Given the description of an element on the screen output the (x, y) to click on. 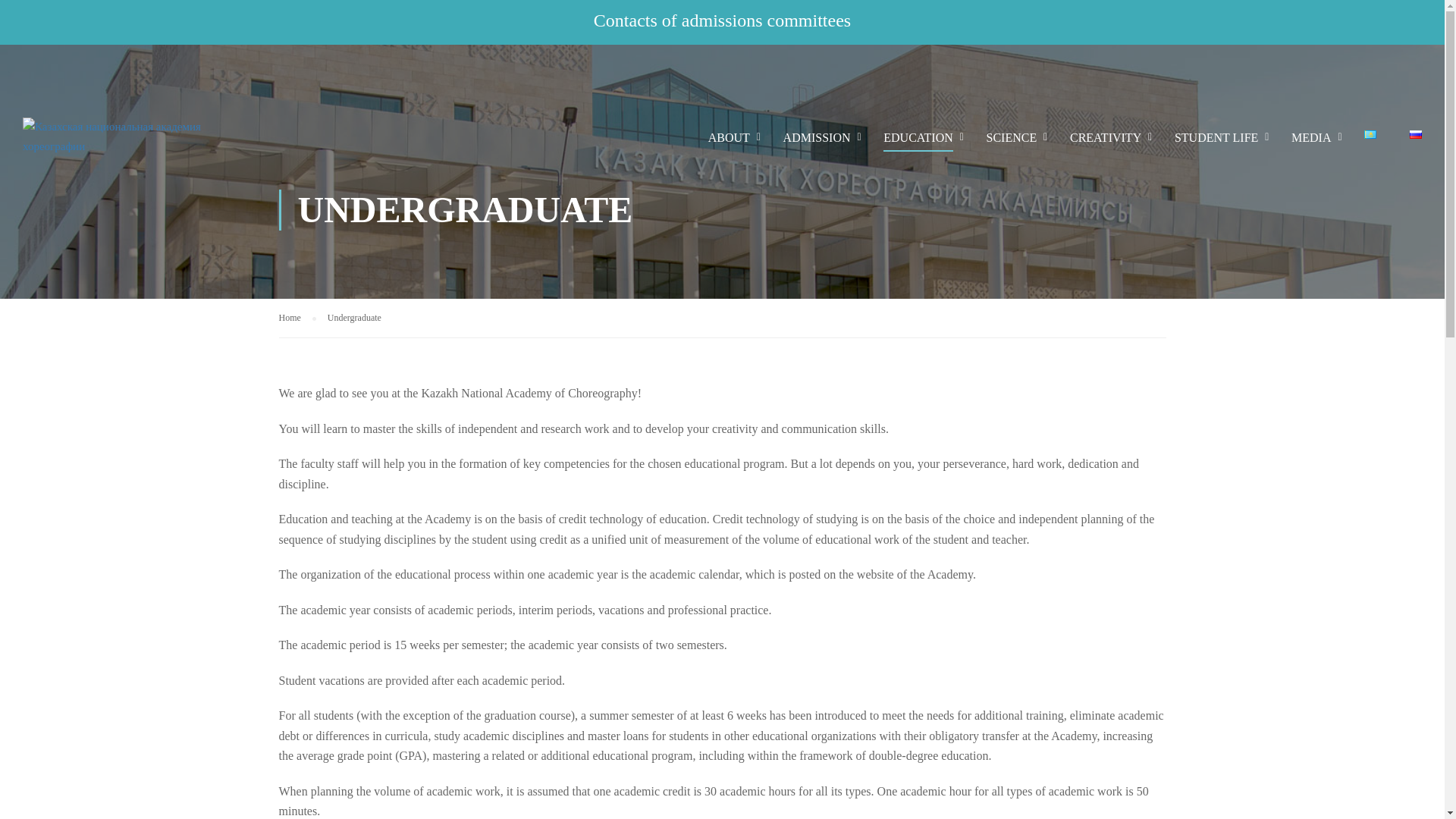
EDUCATION (917, 144)
ABOUT (729, 144)
ADMISSION (817, 144)
Contacts of admissions committees (722, 20)
Home (297, 316)
Undergraduate (354, 317)
